Given the description of an element on the screen output the (x, y) to click on. 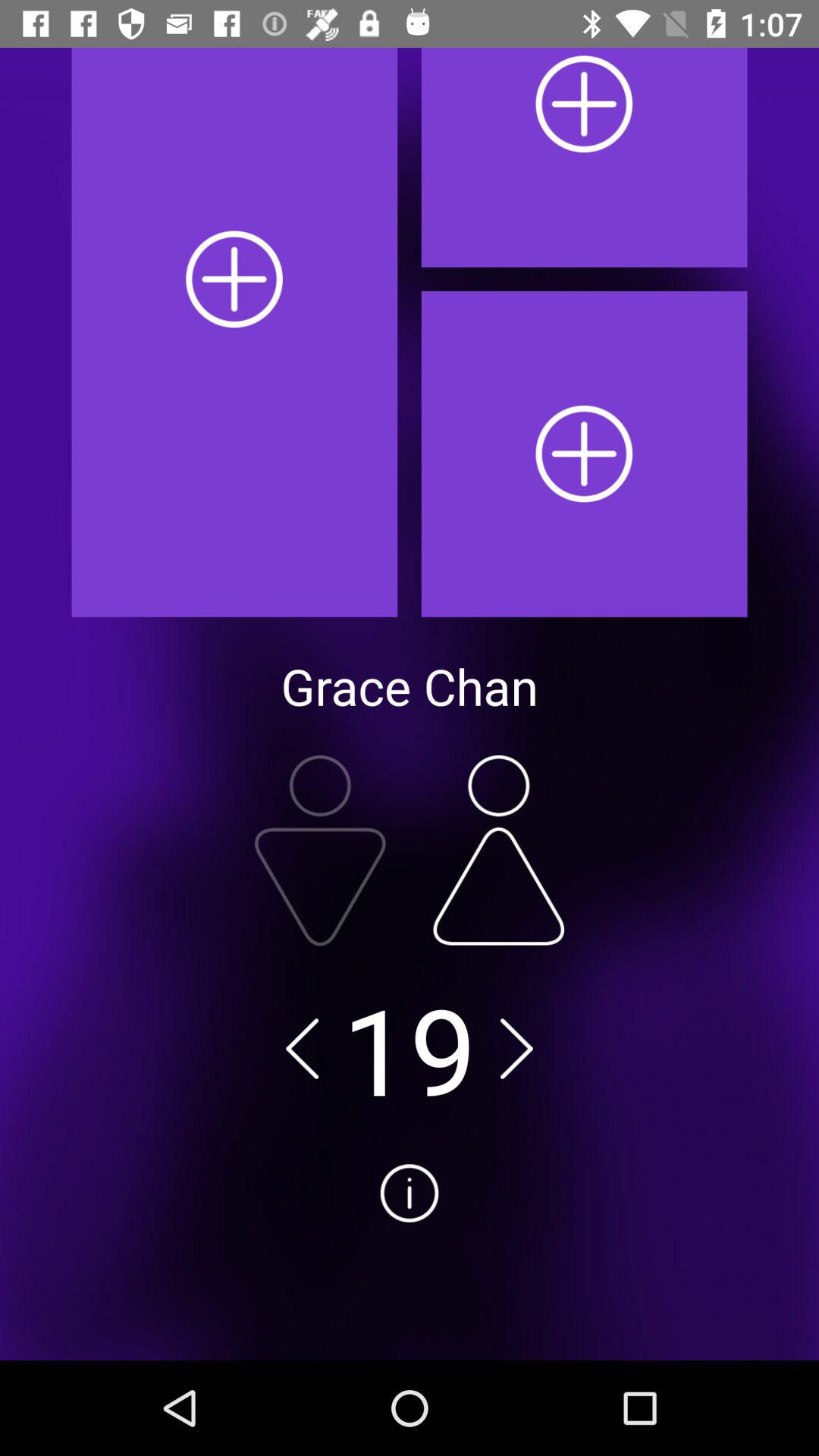
decrease number (302, 1048)
